Given the description of an element on the screen output the (x, y) to click on. 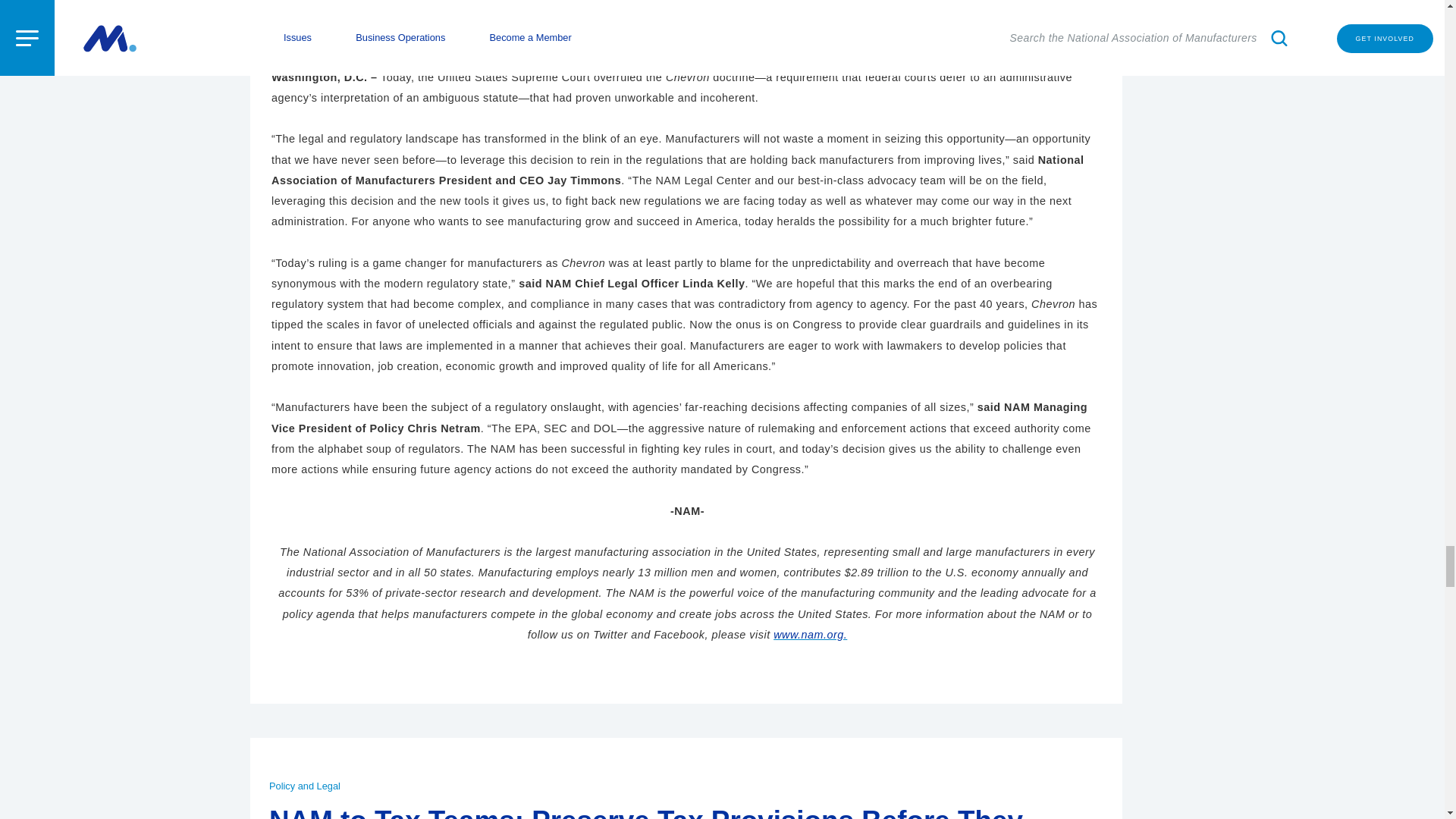
Friday, June 28th at 3:31pm (317, 27)
